Given the description of an element on the screen output the (x, y) to click on. 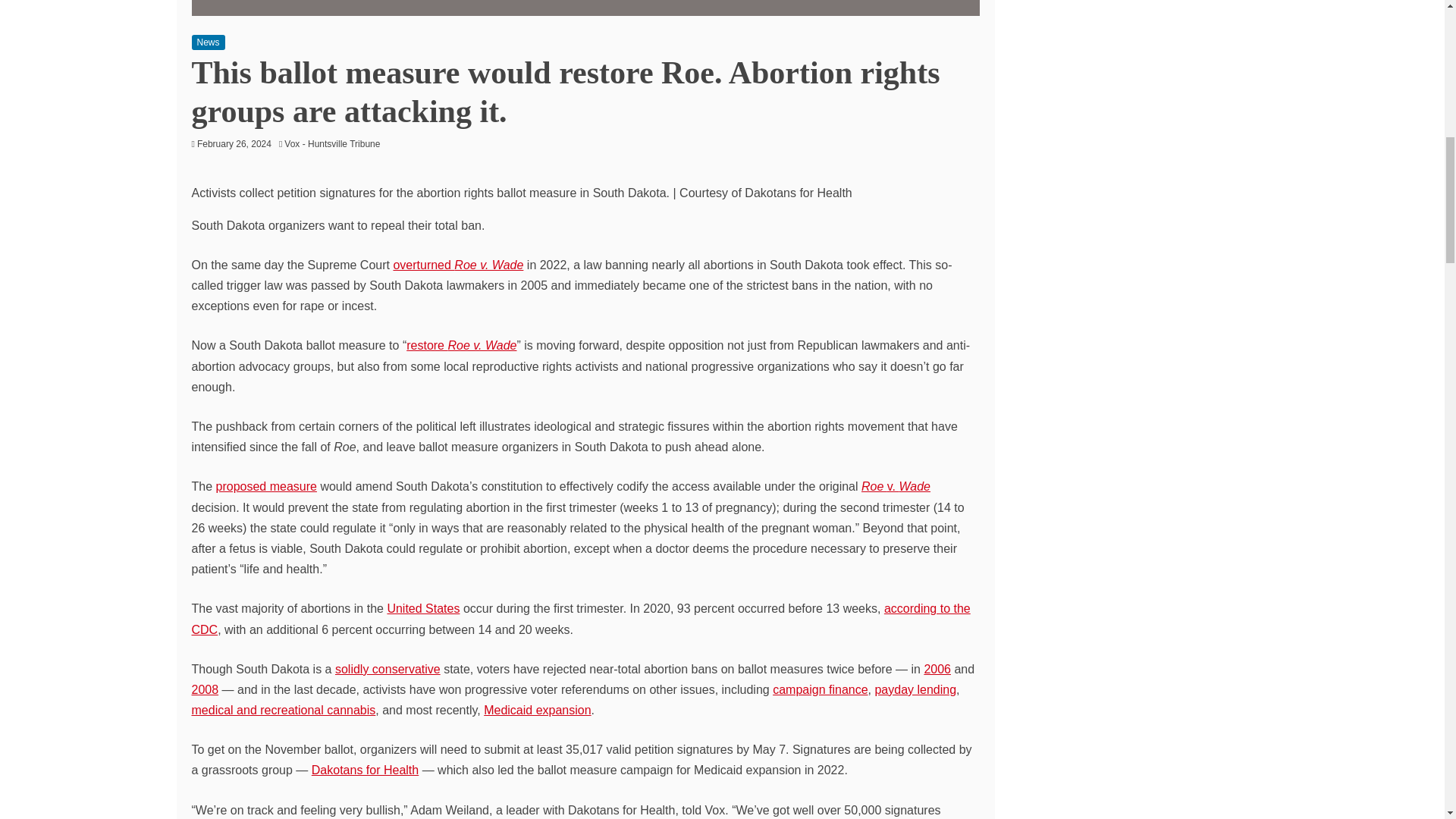
campaign finance (820, 689)
News (207, 42)
Roe v. Wade (895, 486)
medical and recreational cannabis (282, 709)
2006 (936, 668)
restore Roe v. Wade (461, 345)
according to the CDC (579, 618)
United States (423, 608)
solidly conservative (387, 668)
payday lending (915, 689)
Dakotans for Health (365, 769)
Vox - Huntsville Tribune (335, 143)
2008 (204, 689)
February 26, 2024 (233, 143)
Medicaid expansion (537, 709)
